Given the description of an element on the screen output the (x, y) to click on. 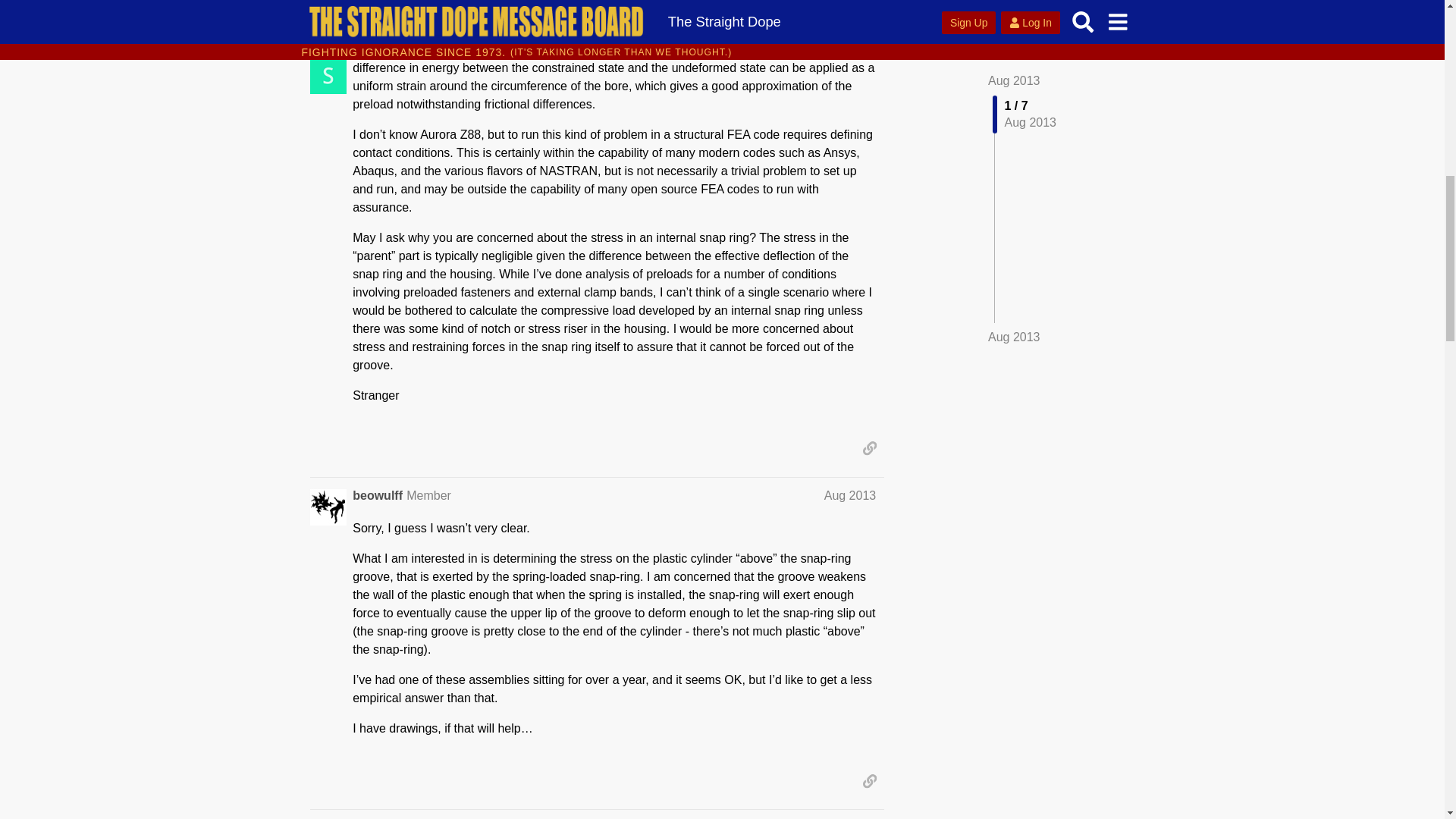
Aug 2013 (850, 495)
Member (428, 495)
Post date (850, 495)
beowulff (377, 495)
share a link to this post (869, 447)
